Given the description of an element on the screen output the (x, y) to click on. 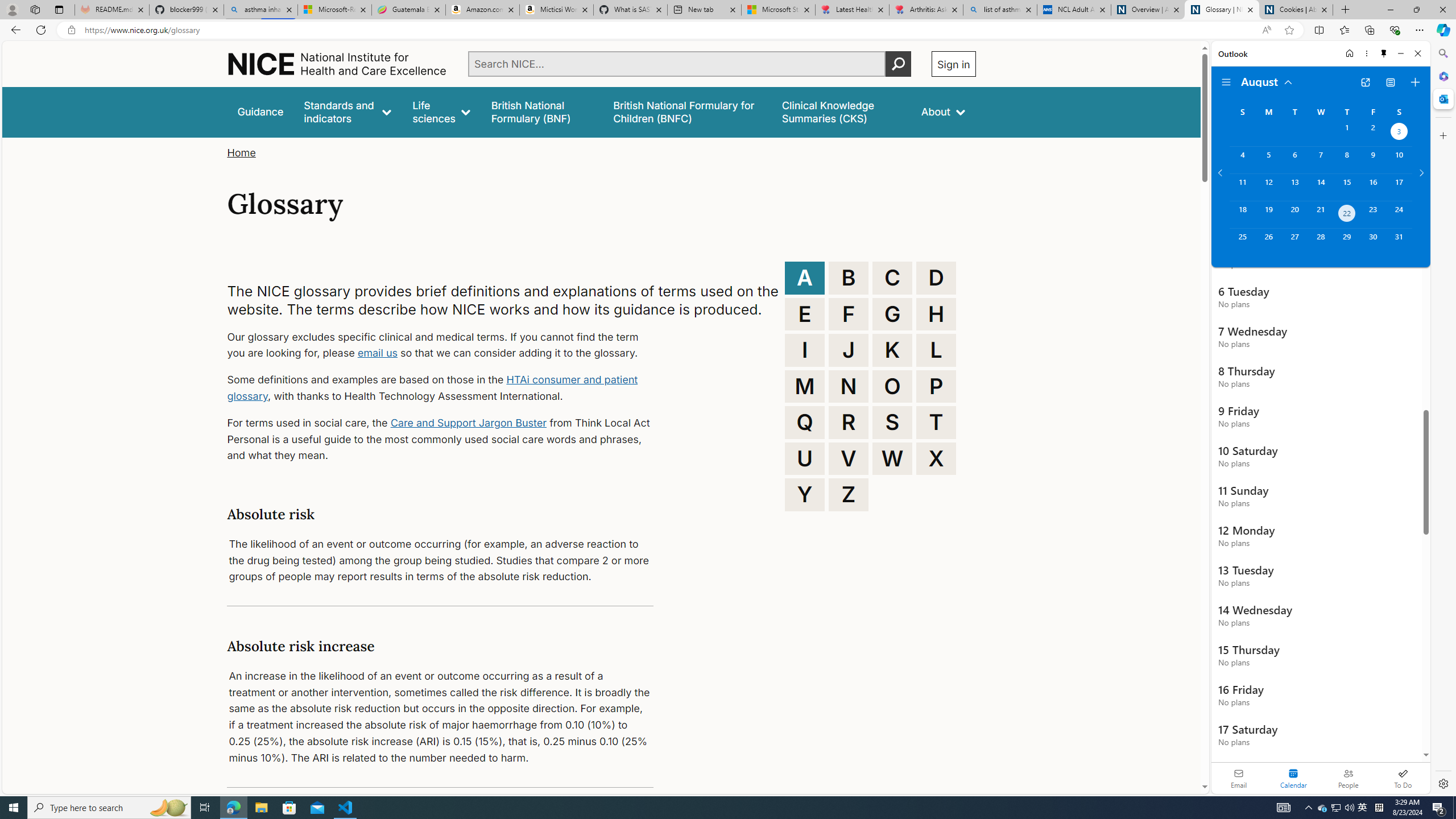
Saturday, August 17, 2024.  (1399, 186)
C (892, 277)
false (841, 111)
M (804, 385)
Perform search (898, 63)
N (848, 385)
D (935, 277)
